Given the description of an element on the screen output the (x, y) to click on. 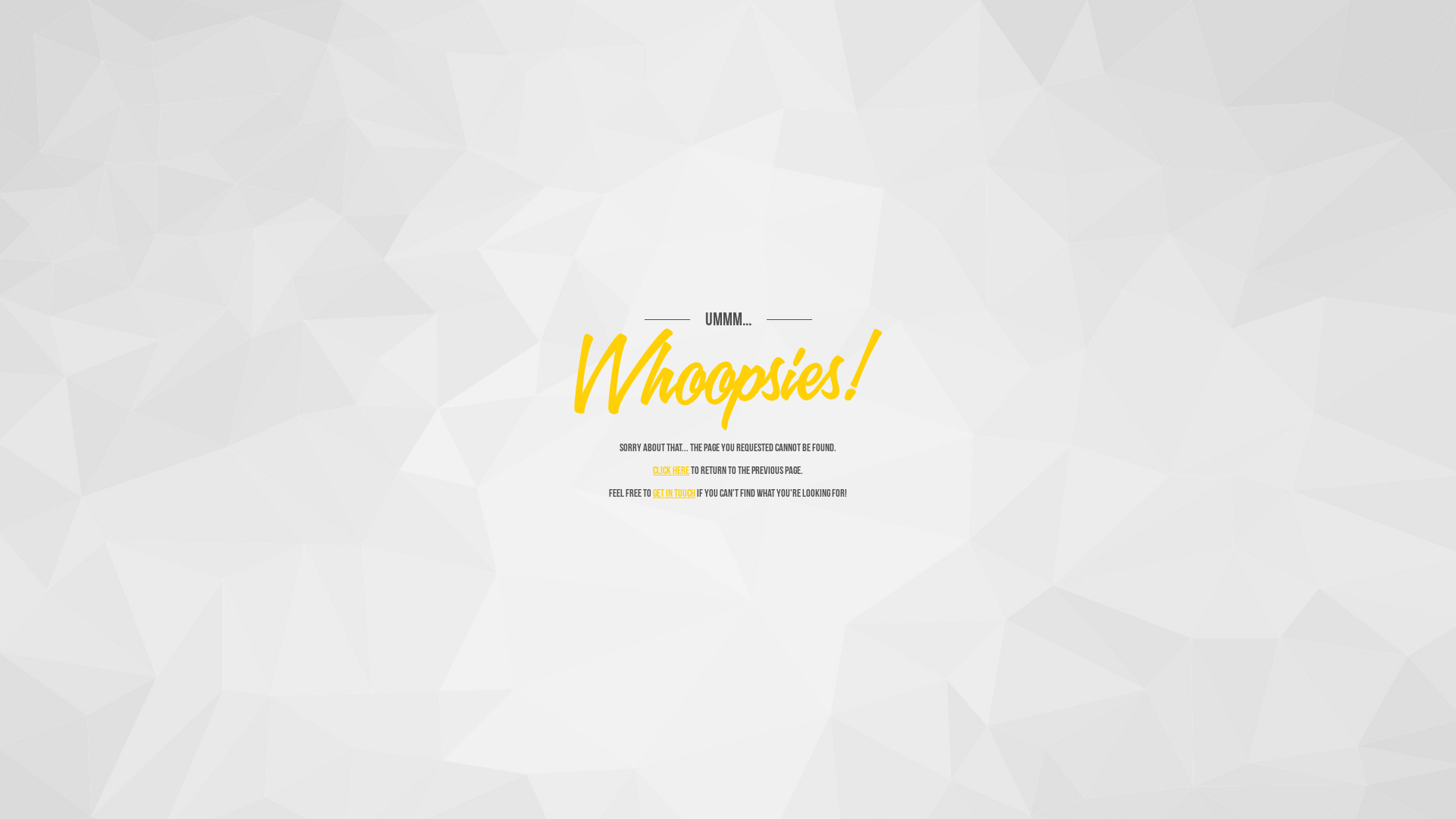
Click here Element type: text (670, 470)
get in touch Element type: text (673, 492)
